Given the description of an element on the screen output the (x, y) to click on. 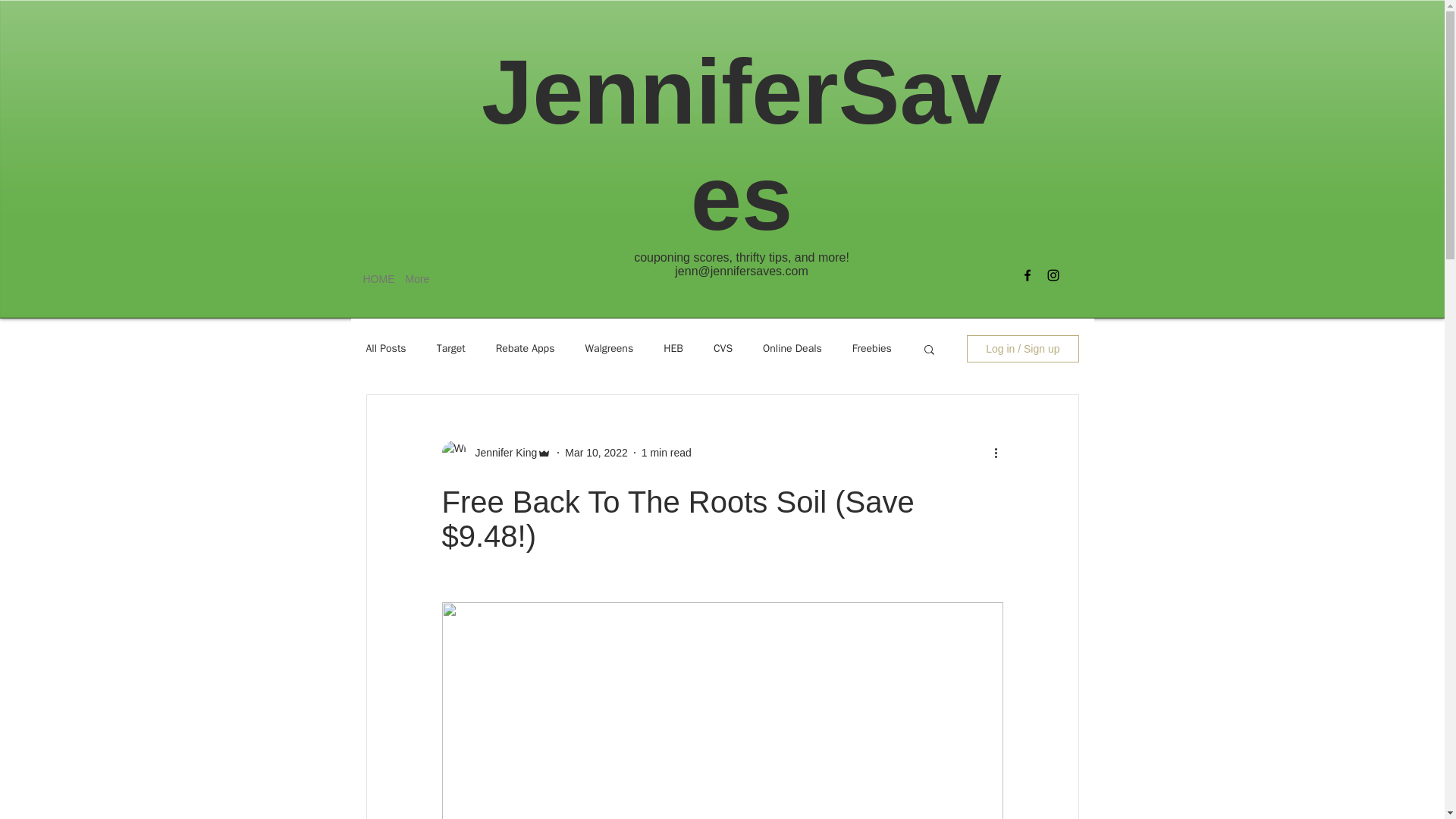
CVS (722, 348)
HOME (373, 279)
Mar 10, 2022 (595, 451)
Rebate Apps (525, 348)
Target (450, 348)
Online Deals (792, 348)
All Posts (385, 348)
HEB (672, 348)
JenniferSaves (741, 144)
1 min read (666, 451)
Freebies (871, 348)
Jennifer King (501, 452)
Walgreens (609, 348)
